Given the description of an element on the screen output the (x, y) to click on. 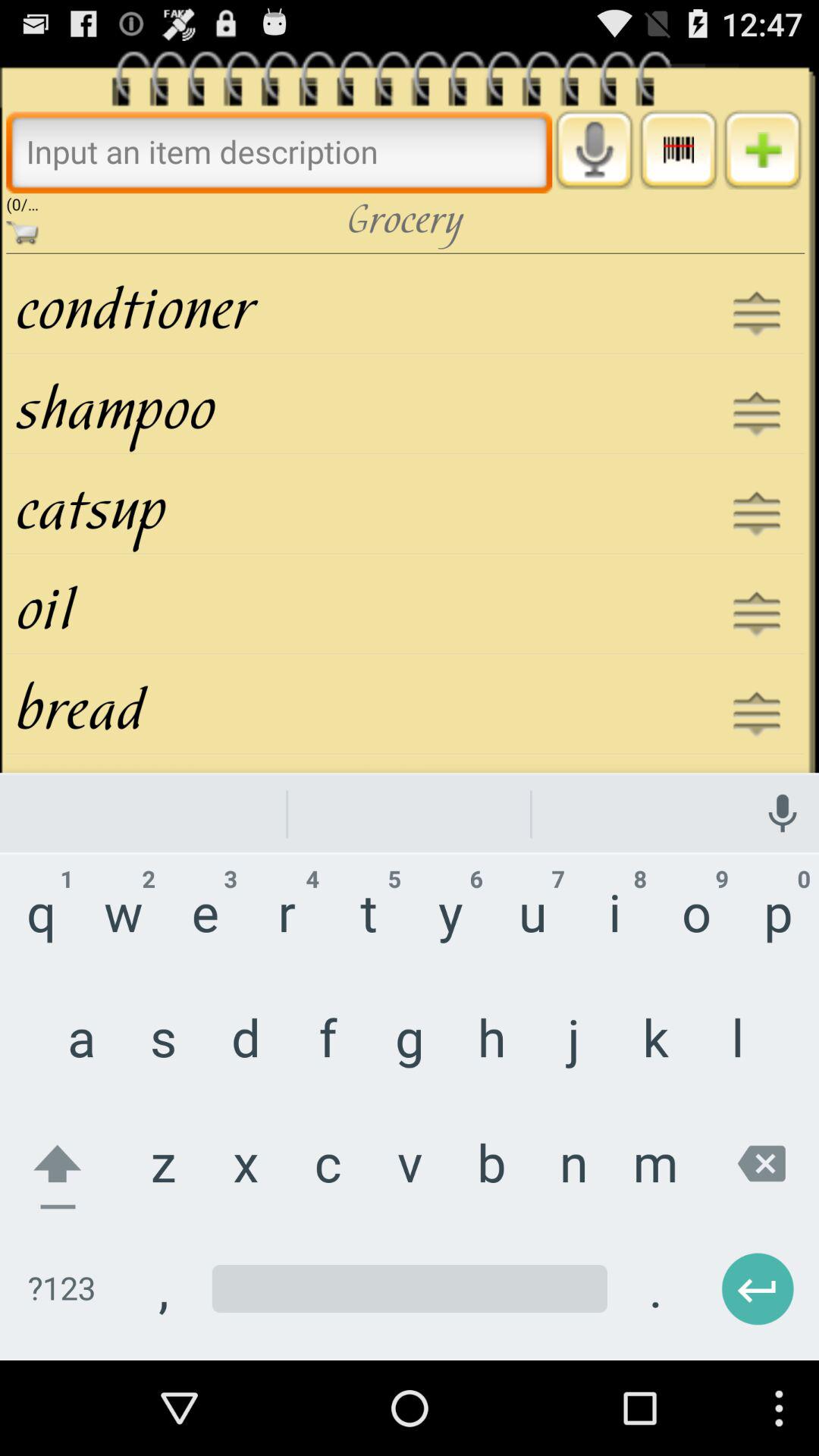
go to scan opption (678, 149)
